Given the description of an element on the screen output the (x, y) to click on. 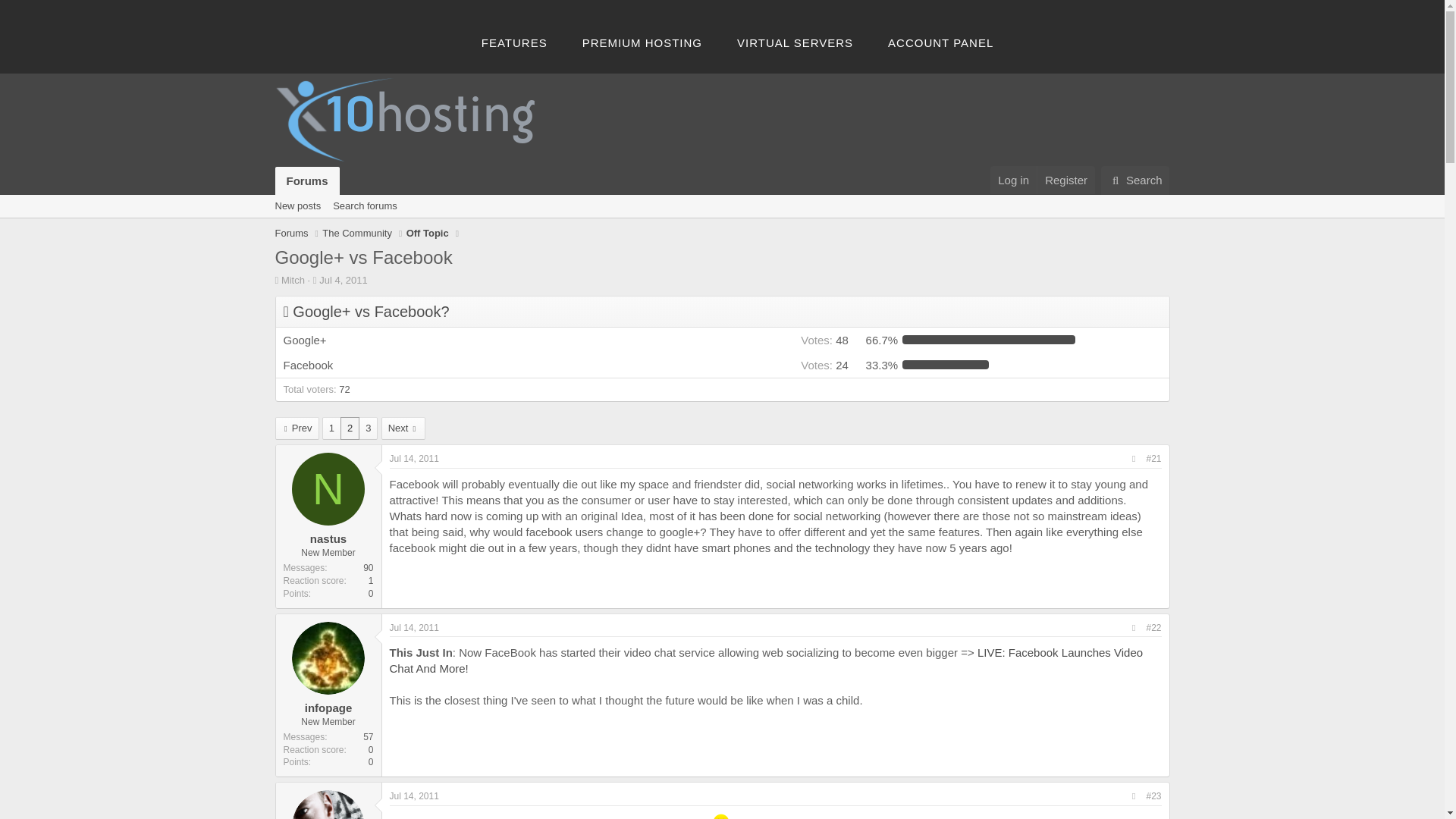
Jul 4, 2011 at 6:54 AM (343, 279)
Forums (306, 180)
Register (1065, 180)
Next (403, 427)
PREMIUM HOSTING (641, 41)
The Community (356, 233)
Jul 14, 2011 at 12:22 AM (414, 458)
ACCOUNT PANEL (940, 41)
Jul 14, 2011 at 10:45 AM (414, 796)
Log in (1013, 180)
Prev (296, 427)
New posts (296, 205)
Stick Out Tongue    :p (721, 816)
FEATURES (514, 41)
Forums (306, 198)
